Given the description of an element on the screen output the (x, y) to click on. 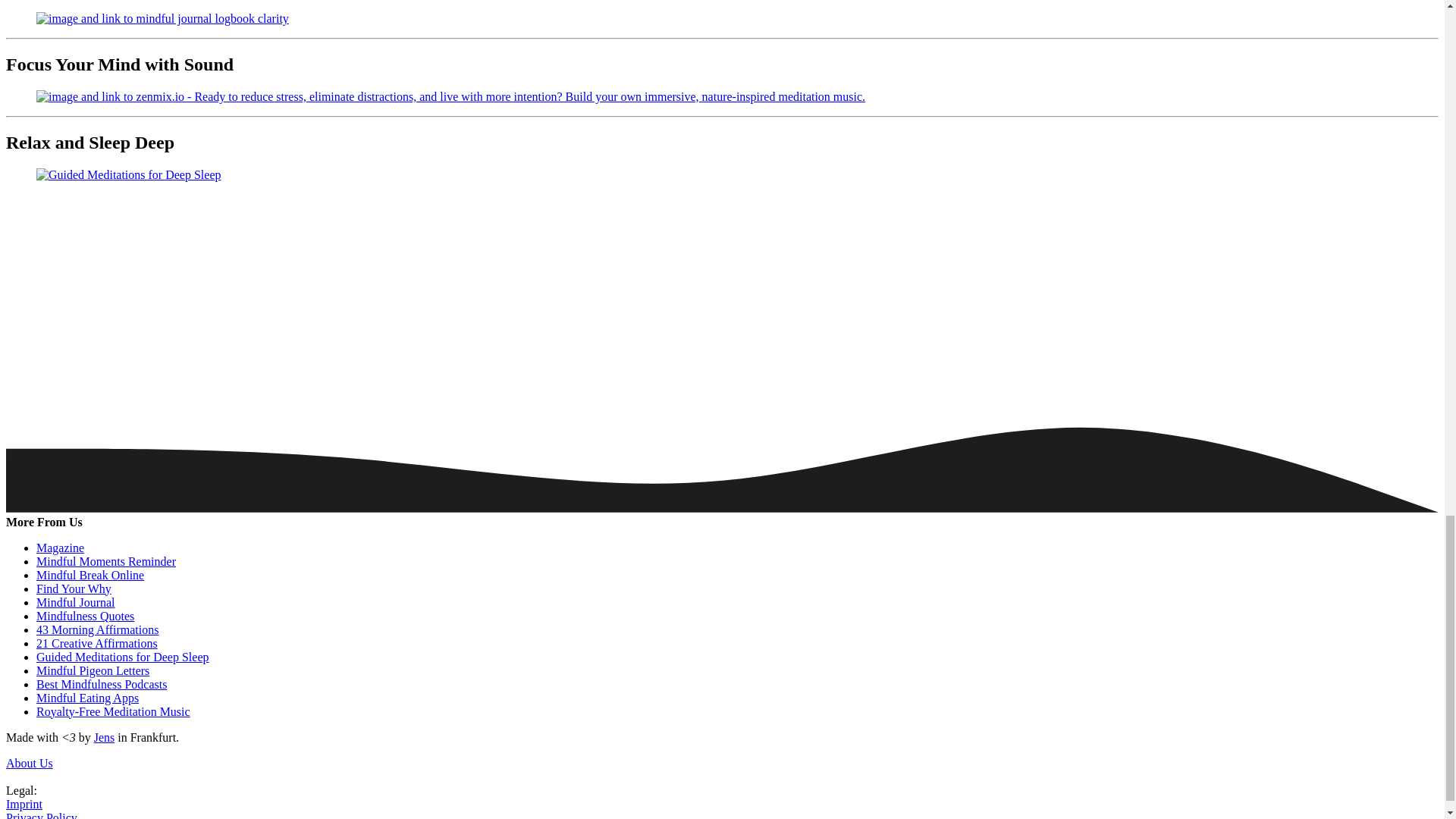
Find Your Why (74, 588)
43 Morning Affirmations (97, 629)
Imprint (23, 803)
Mindful Eating Apps (87, 697)
Magazine (60, 547)
Guided Meditations for Deep Sleep (122, 656)
Jens (104, 737)
Mindful Moments Reminder (106, 561)
Best Mindfulness Podcasts (101, 684)
About Us (28, 762)
21 Creative Affirmations (96, 643)
LOGBOOK clarity the mindful journal (75, 602)
Mindfulness Quotes (84, 615)
Royalty-Free Meditation Music (113, 711)
Mindful Pigeon Letters (92, 670)
